Given the description of an element on the screen output the (x, y) to click on. 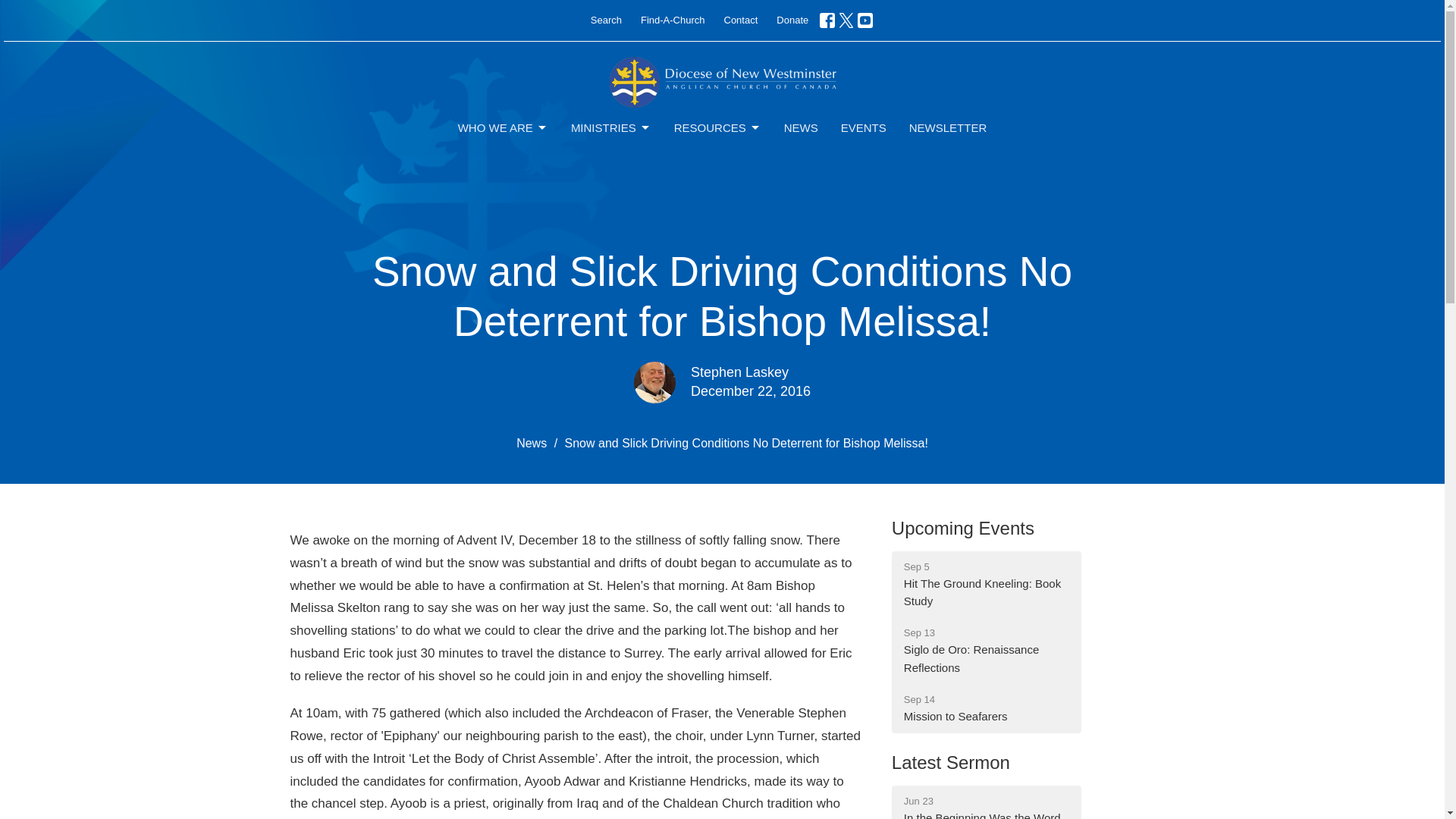
News (531, 442)
Search (605, 20)
EVENTS (863, 127)
NEWSLETTER (947, 127)
MINISTRIES (610, 127)
Donate (791, 20)
Upcoming Events (962, 527)
WHO WE ARE (503, 127)
Find-A-Church (673, 20)
RESOURCES (717, 127)
